Given the description of an element on the screen output the (x, y) to click on. 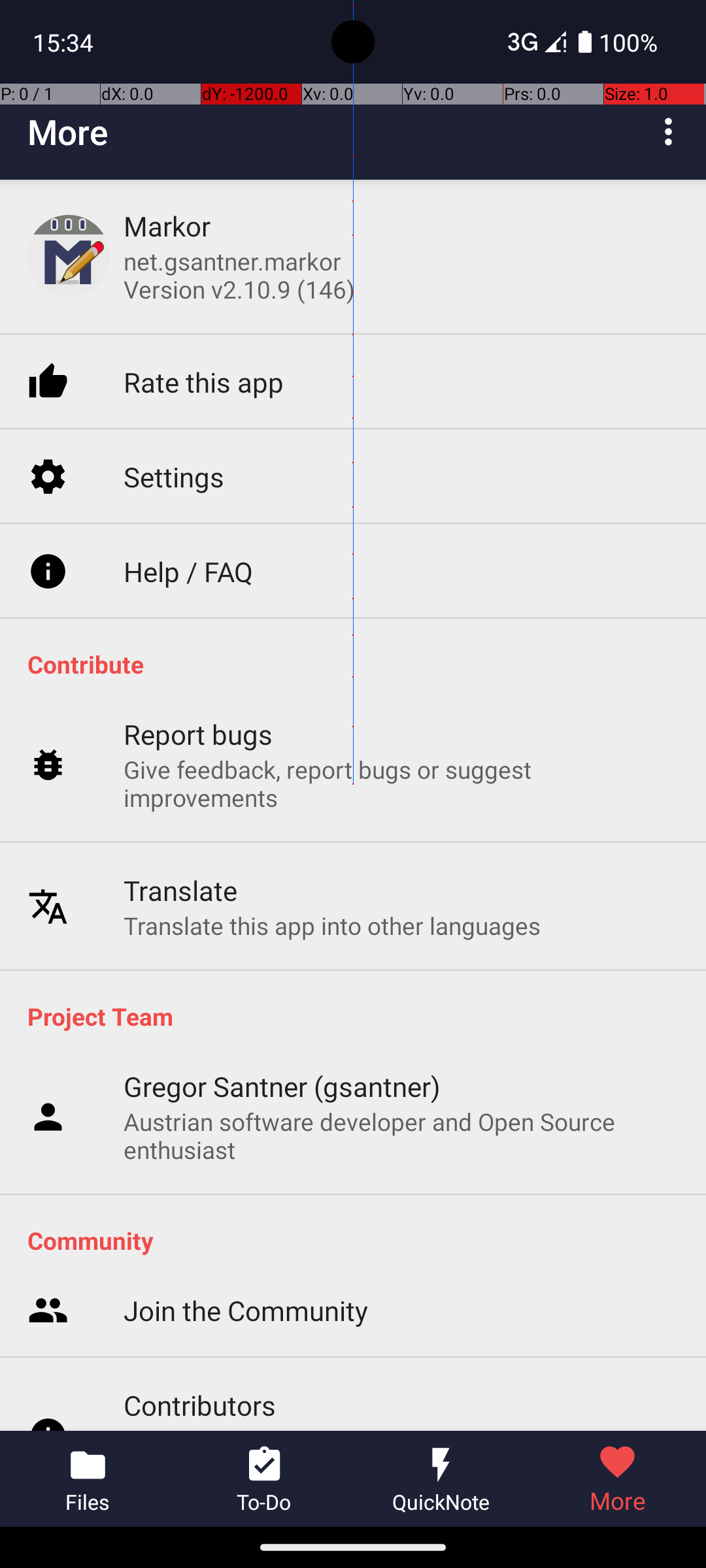
Contribute Element type: android.widget.TextView (359, 663)
Project Team Element type: android.widget.TextView (359, 1015)
Community Element type: android.widget.TextView (359, 1240)
net.gsantner.markor
Version v2.10.9 (146) Element type: android.widget.TextView (239, 274)
Rate this app Element type: android.widget.TextView (203, 381)
Help / FAQ Element type: android.widget.TextView (188, 570)
Report bugs Element type: android.widget.TextView (198, 733)
Give feedback, report bugs or suggest improvements Element type: android.widget.TextView (400, 783)
Translate Element type: android.widget.TextView (180, 889)
Translate this app into other languages Element type: android.widget.TextView (331, 925)
Gregor Santner (gsantner) Element type: android.widget.TextView (281, 1085)
Austrian software developer and Open Source enthusiast Element type: android.widget.TextView (400, 1135)
Join the Community Element type: android.widget.TextView (245, 1309)
Contributors Element type: android.widget.TextView (199, 1404)
Show contributor info. Provide it to be shown here on an opt-in basis after contributing Element type: android.widget.TextView (400, 1426)
